Given the description of an element on the screen output the (x, y) to click on. 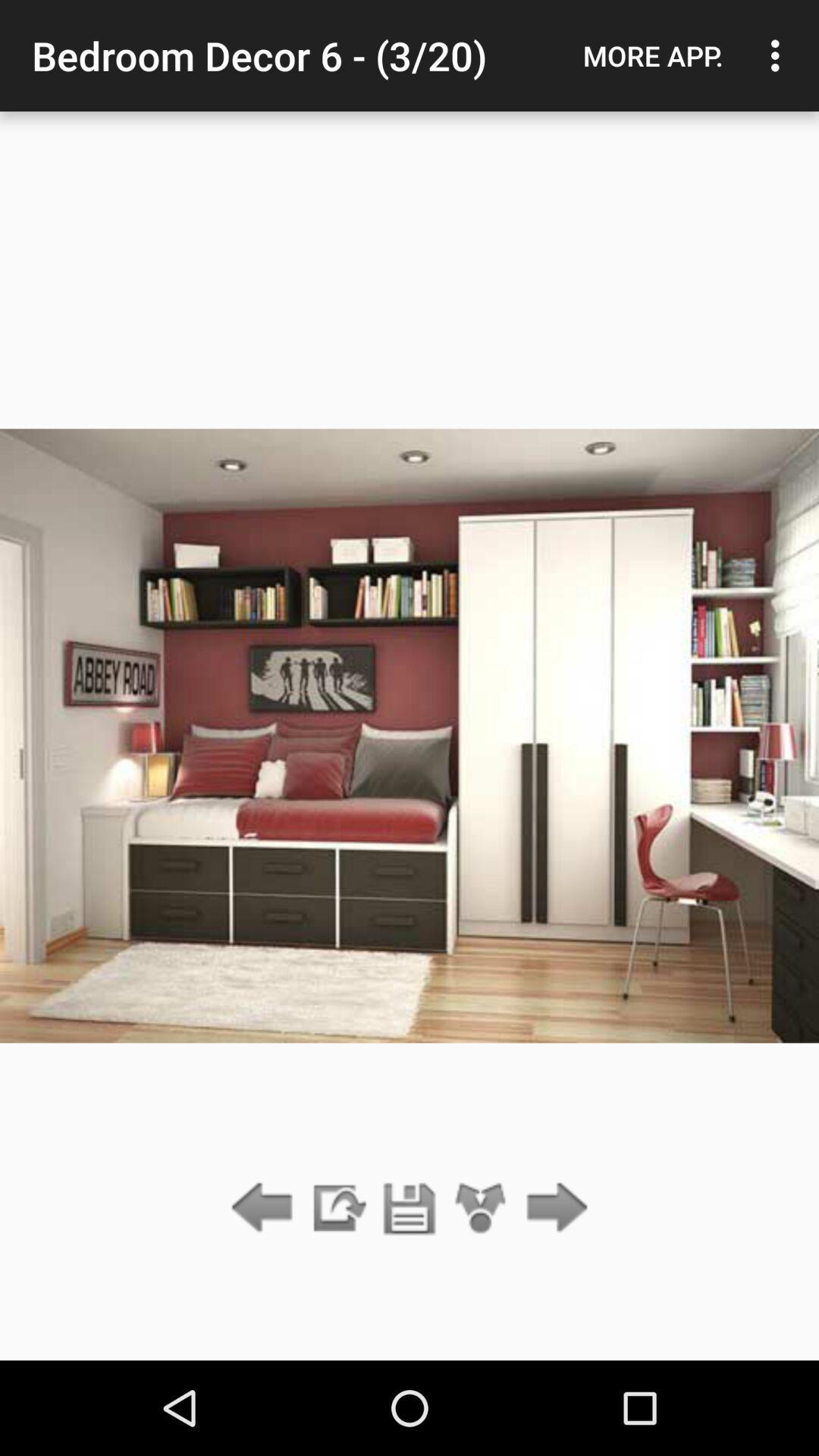
turn off icon at the bottom right corner (552, 1209)
